Given the description of an element on the screen output the (x, y) to click on. 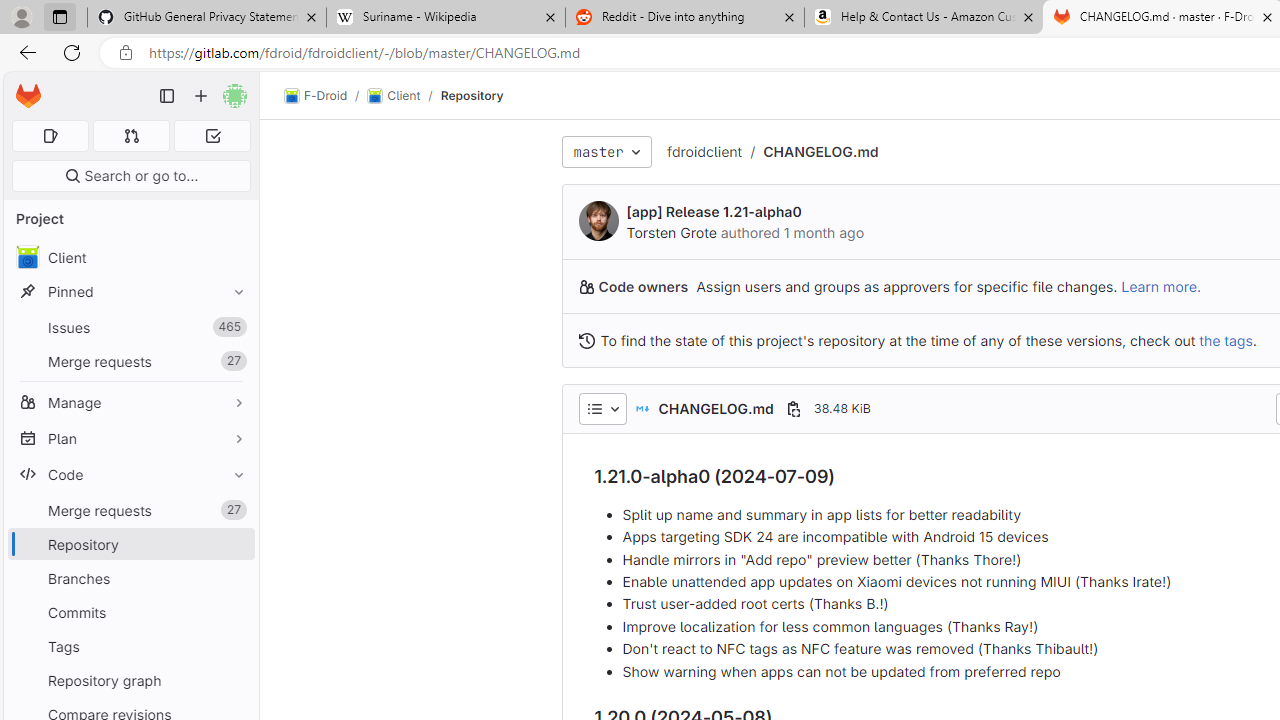
Commits (130, 612)
Client (130, 257)
the tags (1226, 340)
Merge requests27 (130, 510)
CHANGELOG.md (820, 151)
Torsten Grote (670, 232)
avatar (27, 257)
To-Do list 0 (212, 136)
Torsten Grote's avatar (598, 220)
Tags (130, 646)
F-Droid (316, 96)
Repository graph (130, 679)
Repository graph (130, 679)
Assigned issues 0 (50, 136)
Class: s16 gl-mr-1 gl-align-text-bottom (586, 340)
